Given the description of an element on the screen output the (x, y) to click on. 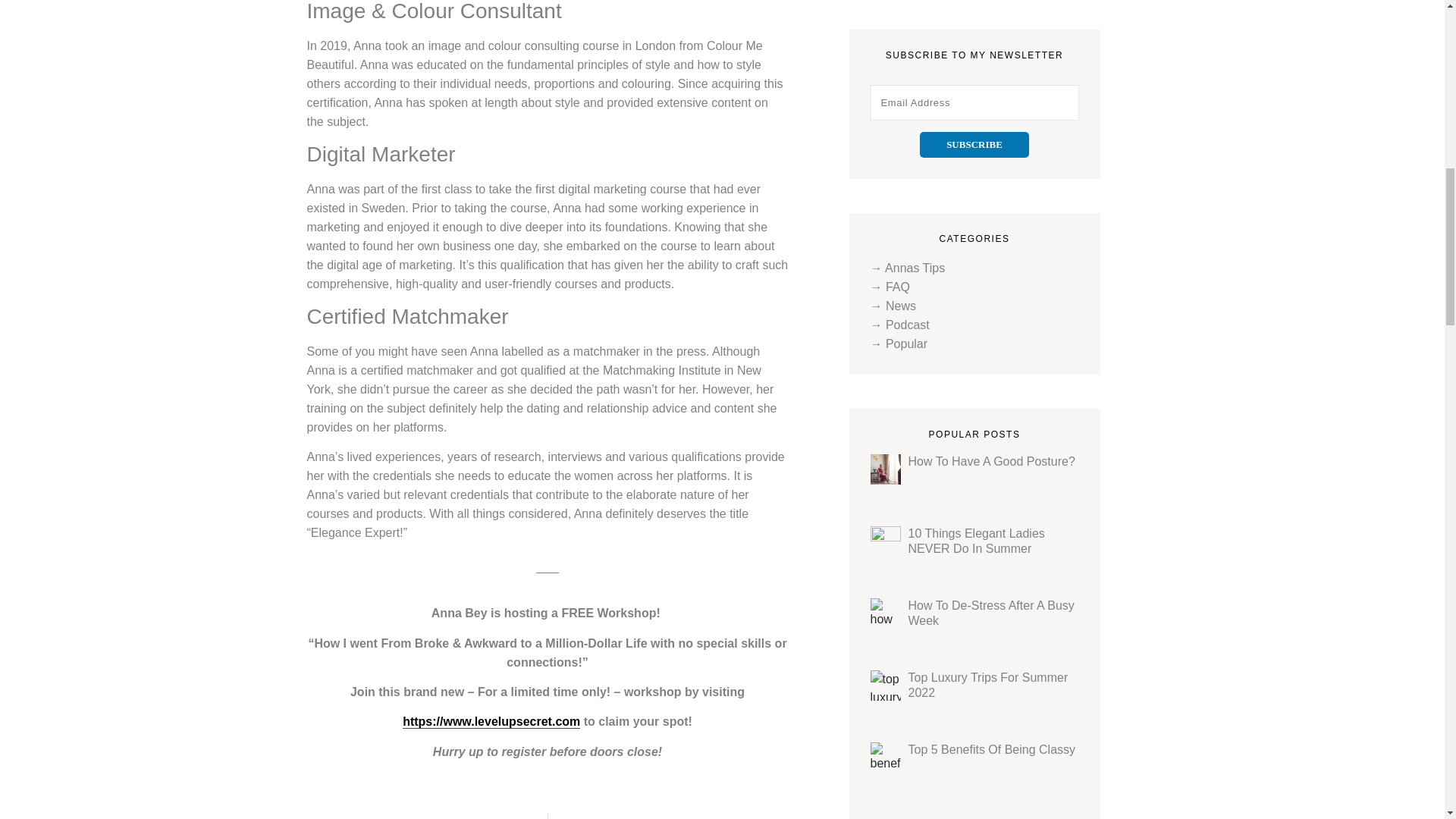
Top Luxury Trips For Summer 2022 (988, 684)
How To Have A Good Posture? (991, 461)
Top 5 Benefits Of Being Classy (991, 748)
How To De-Stress After A Busy Week (991, 612)
10 Things Elegant Ladies NEVER Do In Summer (976, 541)
SUBSCRIBE (974, 144)
